Given the description of an element on the screen output the (x, y) to click on. 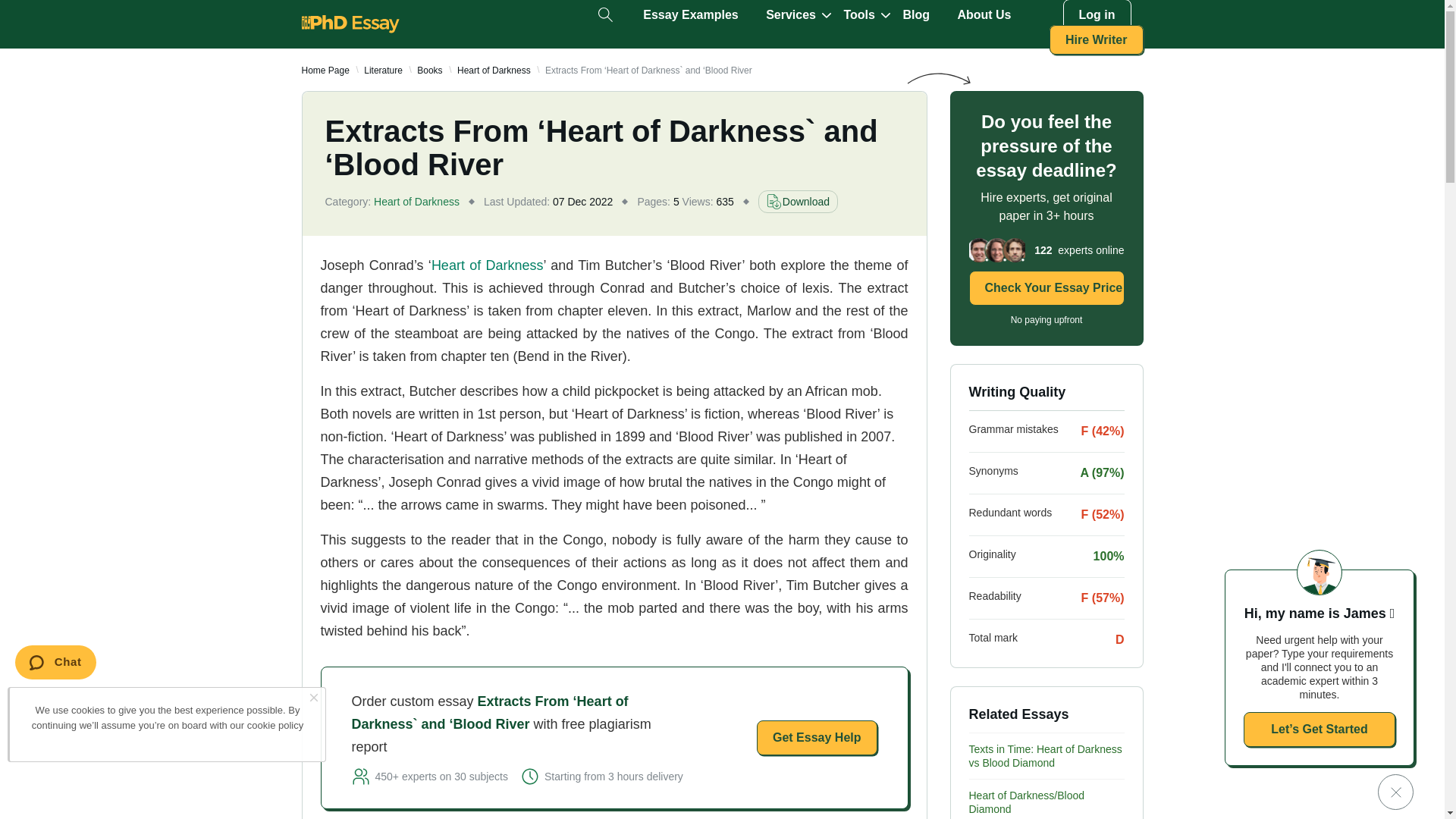
Hire Writer (1095, 39)
Books (429, 70)
Heart of Darkness (486, 264)
Get Essay Help (817, 737)
Essay Examples (690, 15)
Services (790, 15)
Download (798, 201)
Literature (383, 70)
Heart of Darkness (494, 70)
Heart of Darkness (486, 264)
Blog (916, 15)
Log in (1096, 15)
About Us (983, 15)
Tools (859, 15)
Home Page (325, 70)
